Given the description of an element on the screen output the (x, y) to click on. 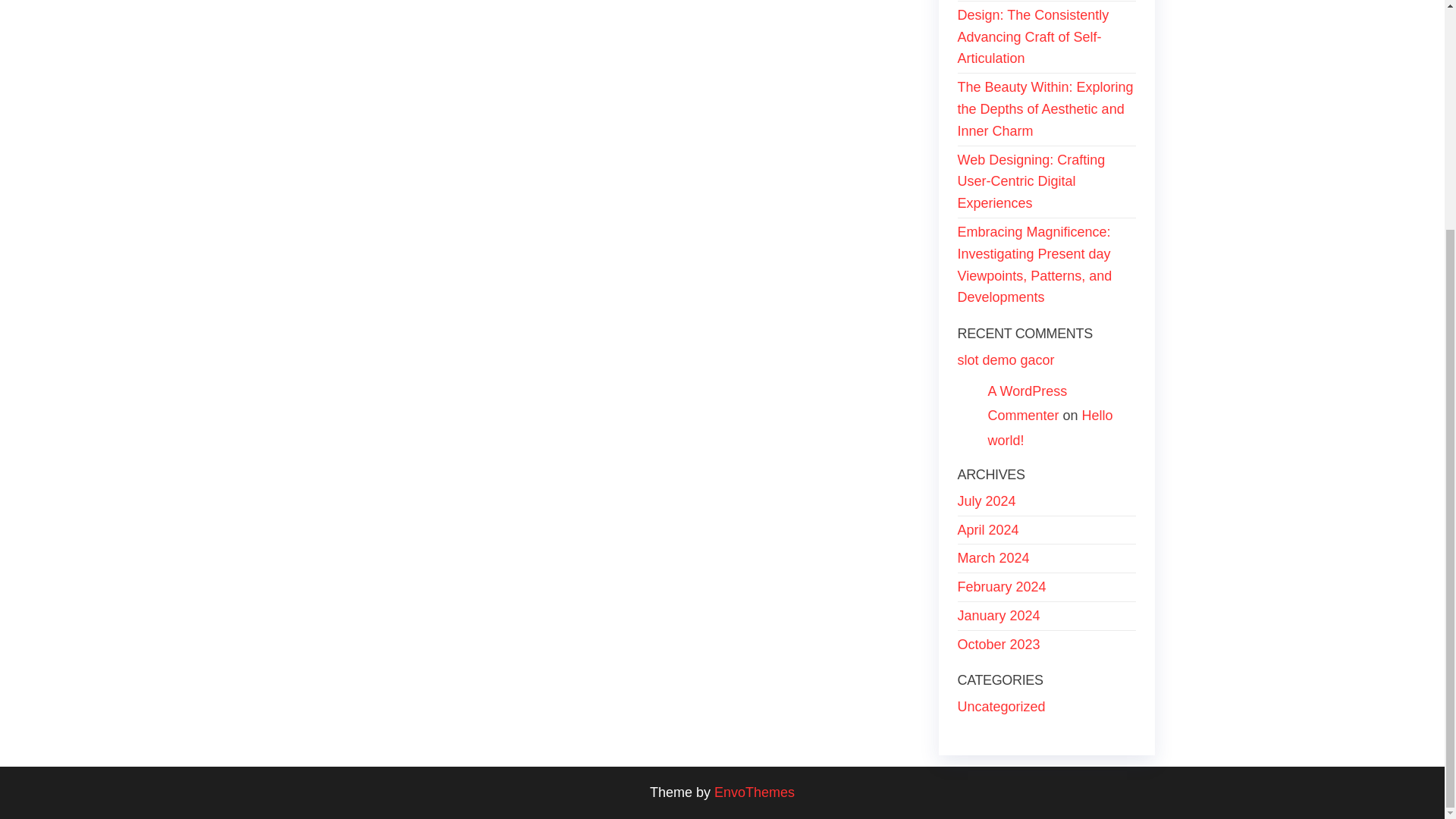
July 2024 (985, 500)
A WordPress Commenter (1027, 403)
April 2024 (986, 529)
slot demo gacor (1005, 359)
February 2024 (1000, 586)
March 2024 (992, 557)
Web Designing: Crafting User-Centric Digital Experiences (1030, 181)
Uncategorized (1000, 706)
EnvoThemes (754, 792)
January 2024 (997, 615)
Hello world! (1049, 427)
October 2023 (997, 644)
